Given the description of an element on the screen output the (x, y) to click on. 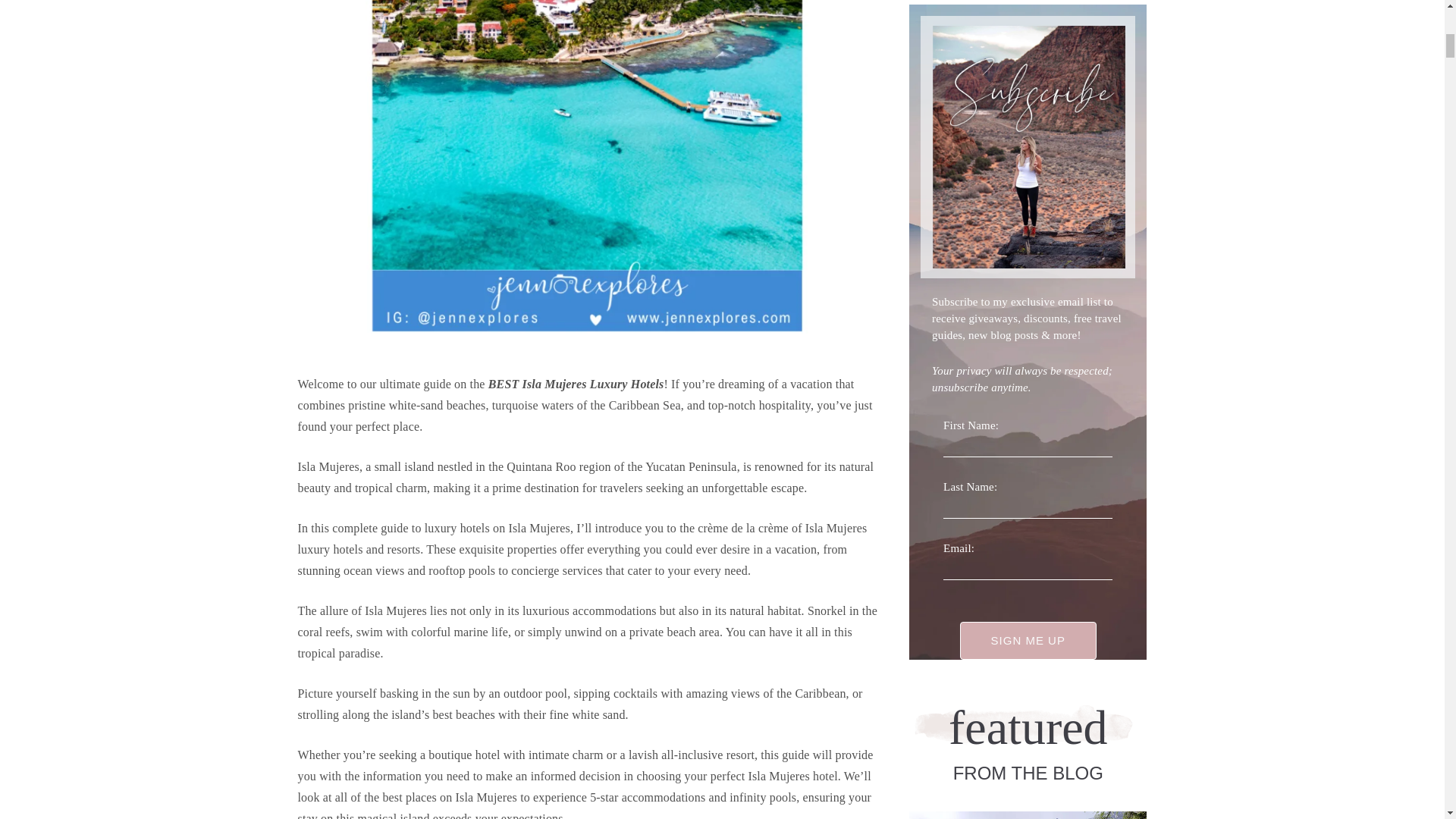
Sign Me Up (1027, 640)
